Given the description of an element on the screen output the (x, y) to click on. 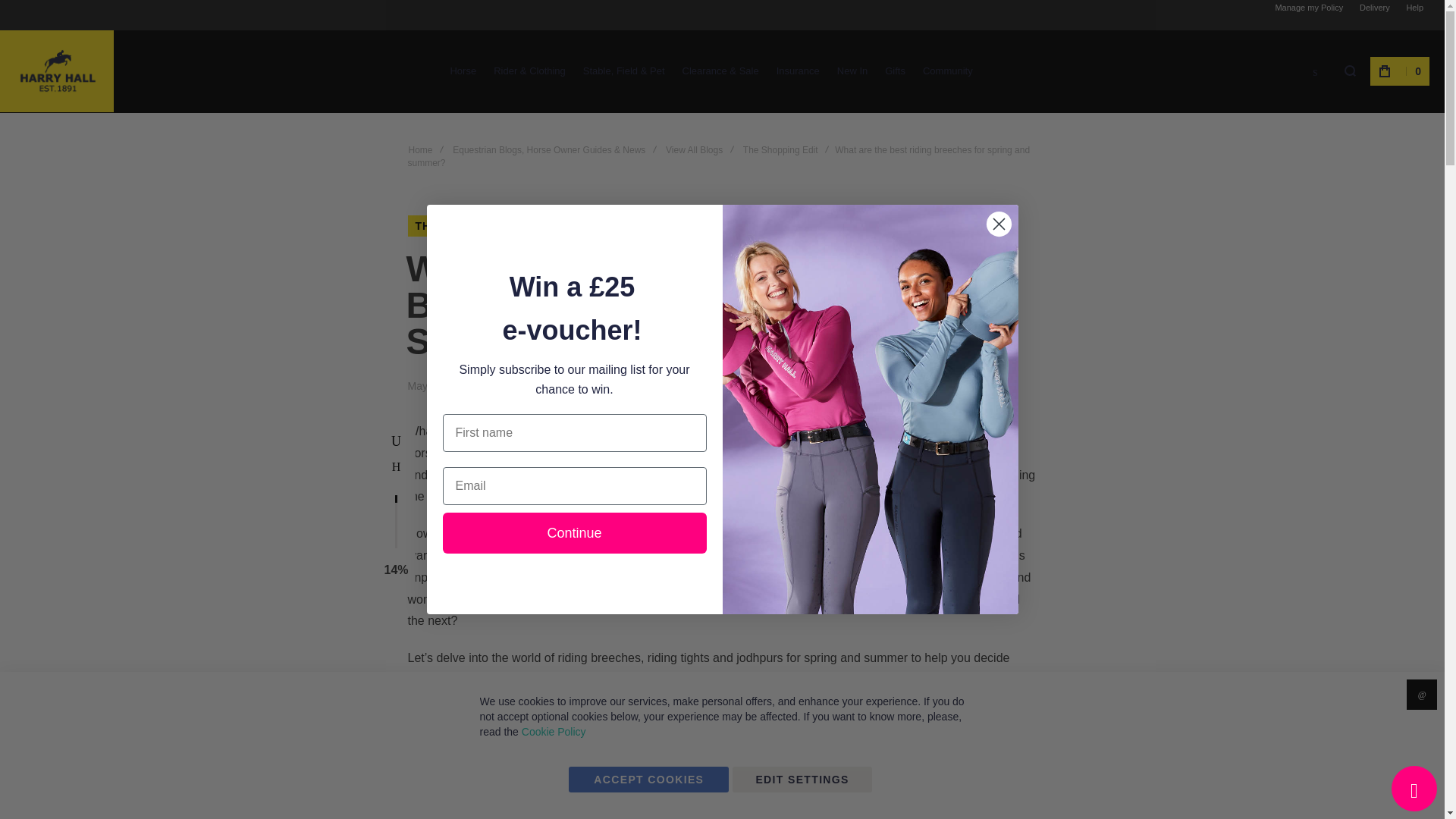
Manage my Policy (1308, 7)
The Shopping Edit (780, 150)
Delivery (1374, 7)
Harry Hall (56, 71)
View All Blogs (606, 225)
View All Blogs (693, 150)
Help (1414, 7)
Horse (462, 70)
Go to Home Page (419, 150)
The Shopping Edit (475, 225)
